Given the description of an element on the screen output the (x, y) to click on. 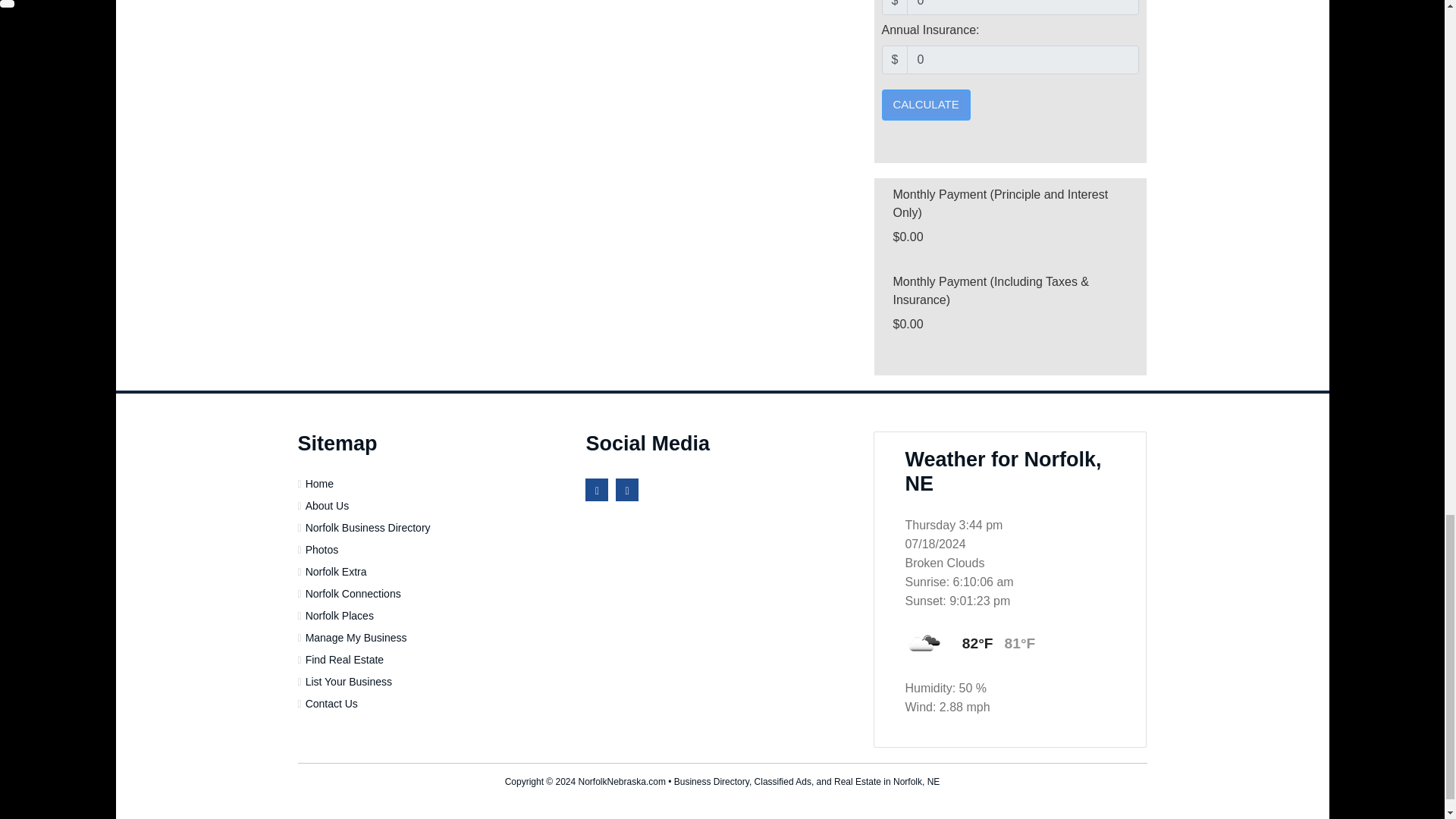
Norfolk Places (337, 615)
Find Real Estate (342, 659)
Norfolk Extra (333, 571)
Home (317, 483)
0 (1022, 59)
Contact Us (329, 703)
0 (1022, 7)
Photos (320, 549)
List Your Business (346, 681)
About Us (325, 505)
CALCULATE (924, 104)
Norfolk Connections (351, 593)
Manage My Business (354, 637)
Norfolk Business Directory (365, 527)
